Given the description of an element on the screen output the (x, y) to click on. 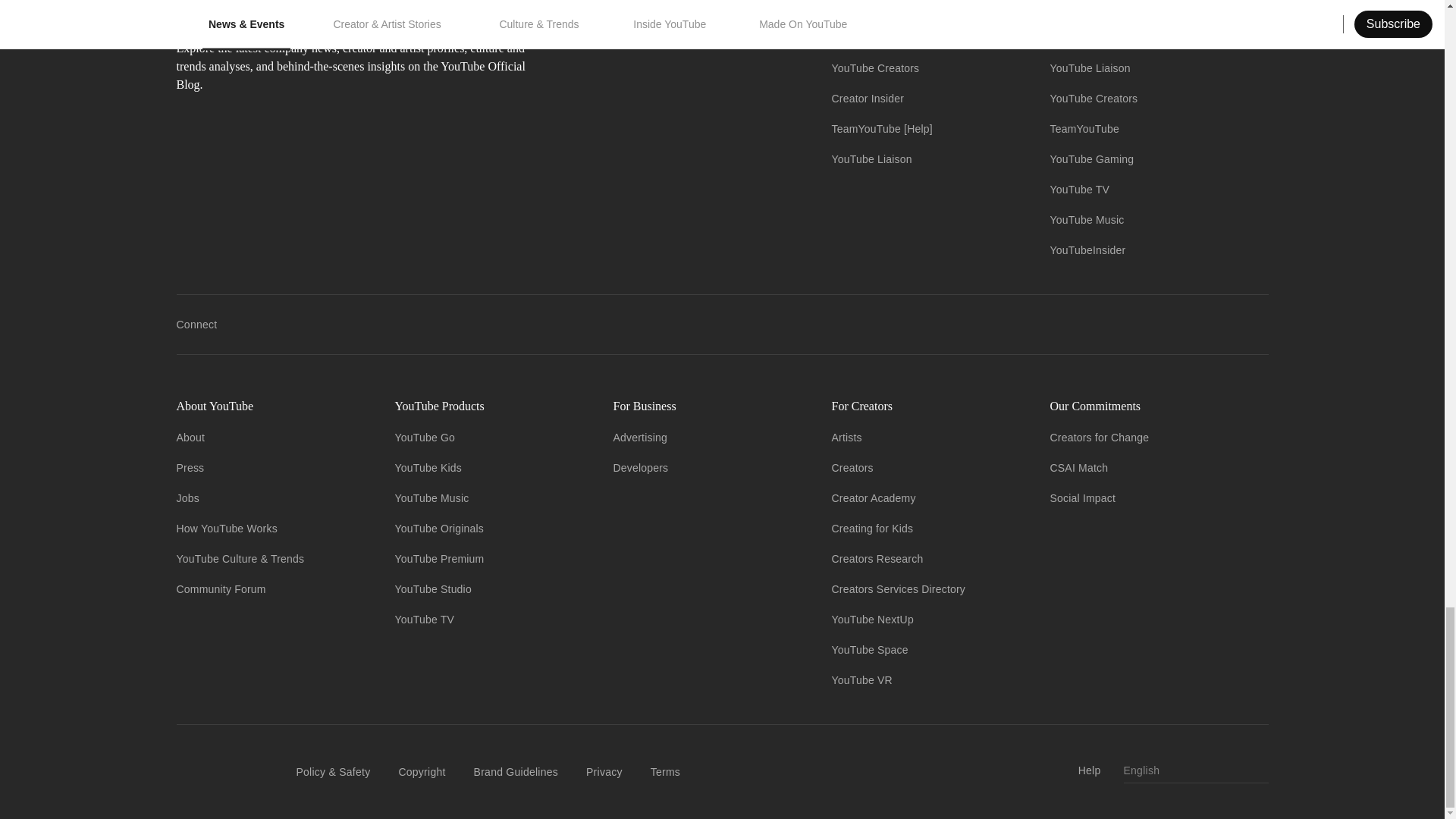
YouTube (1070, 37)
YouTube Creators (874, 68)
YouTube Liaison (871, 159)
Creator Insider (867, 98)
YouTube (852, 37)
Our Channels (928, 7)
